Given the description of an element on the screen output the (x, y) to click on. 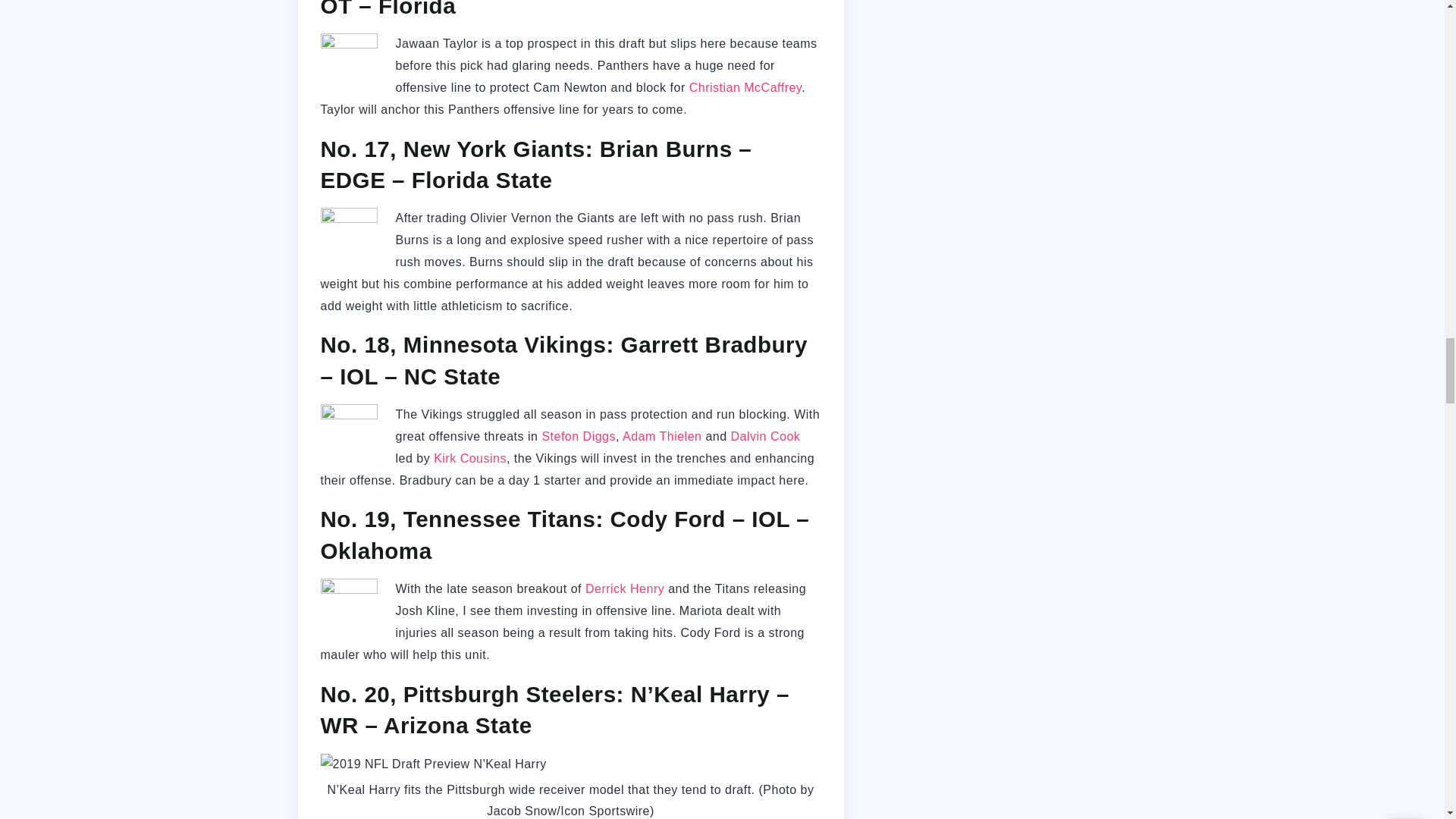
Derrick Henry (624, 588)
Stefon Diggs fantasy news (578, 436)
Kirk Cousins fantasy football news, stats and projections (469, 458)
Stefon Diggs (578, 436)
Derrick Henry fantasy football news, stats and projections (624, 588)
Adam Thielen fantasy news (662, 436)
Adam Thielen (662, 436)
Christian McCaffrey (745, 87)
Dalvin Cook fantasy football news, stats and projections (765, 436)
